Given the description of an element on the screen output the (x, y) to click on. 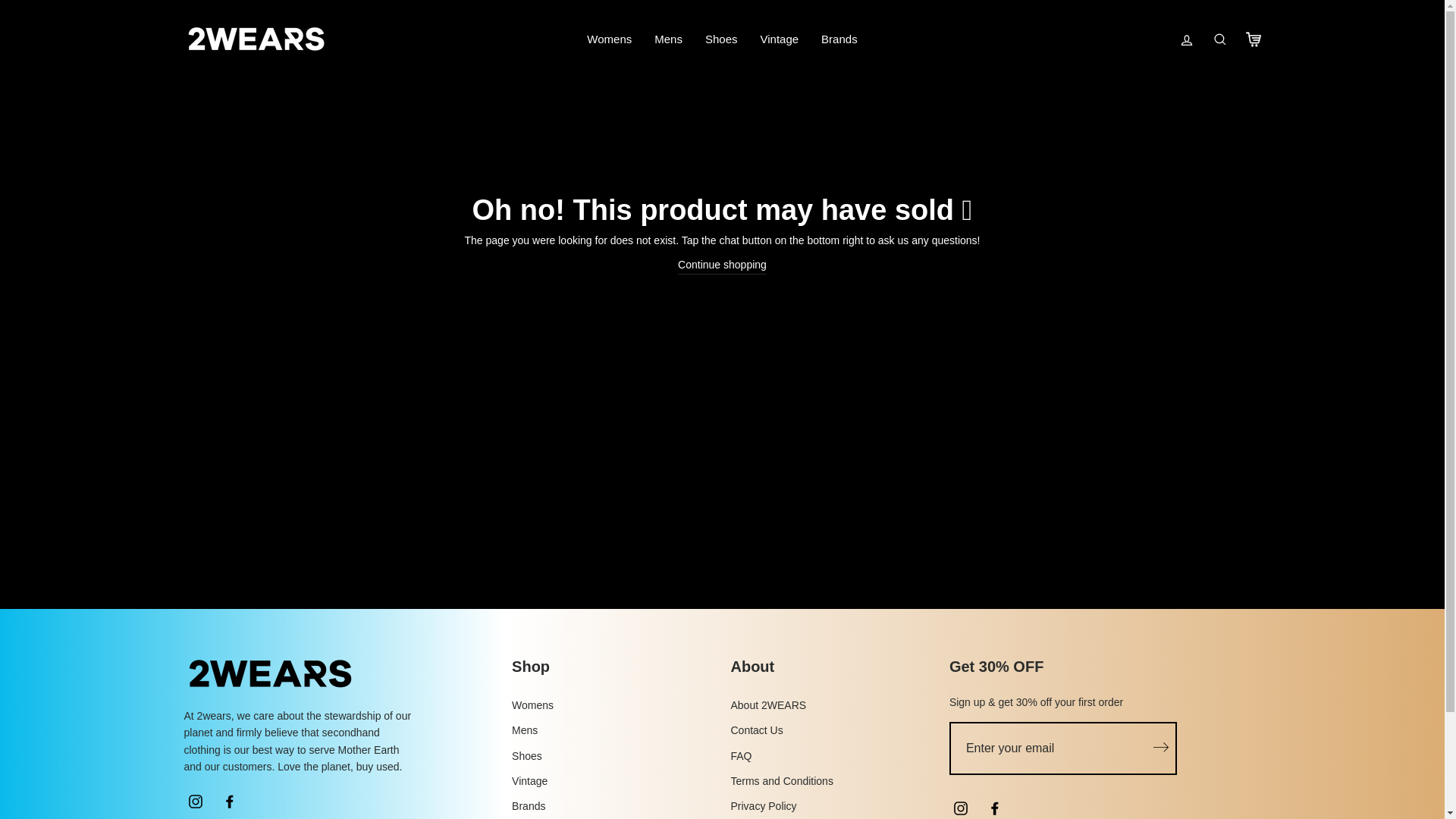
Continue shopping Element type: text (721, 264)
Brands Element type: text (528, 805)
Vintage Element type: text (779, 38)
Mens Element type: text (524, 729)
Womens Element type: text (532, 704)
FAQ Element type: text (740, 755)
Mens Element type: text (668, 38)
Shoes Element type: text (526, 755)
Search Element type: text (1219, 38)
Terms and Conditions Element type: text (781, 780)
Brands Element type: text (839, 38)
Vintage Element type: text (529, 780)
Cart Element type: text (1252, 38)
Shoes Element type: text (721, 38)
Facebook Element type: text (229, 801)
Instagram Element type: text (194, 801)
Privacy Policy Element type: text (763, 805)
Womens Element type: text (609, 38)
Log in Element type: text (1185, 38)
Skip to content Element type: text (0, 0)
Contact Us Element type: text (756, 729)
About 2WEARS Element type: text (768, 704)
